Given the description of an element on the screen output the (x, y) to click on. 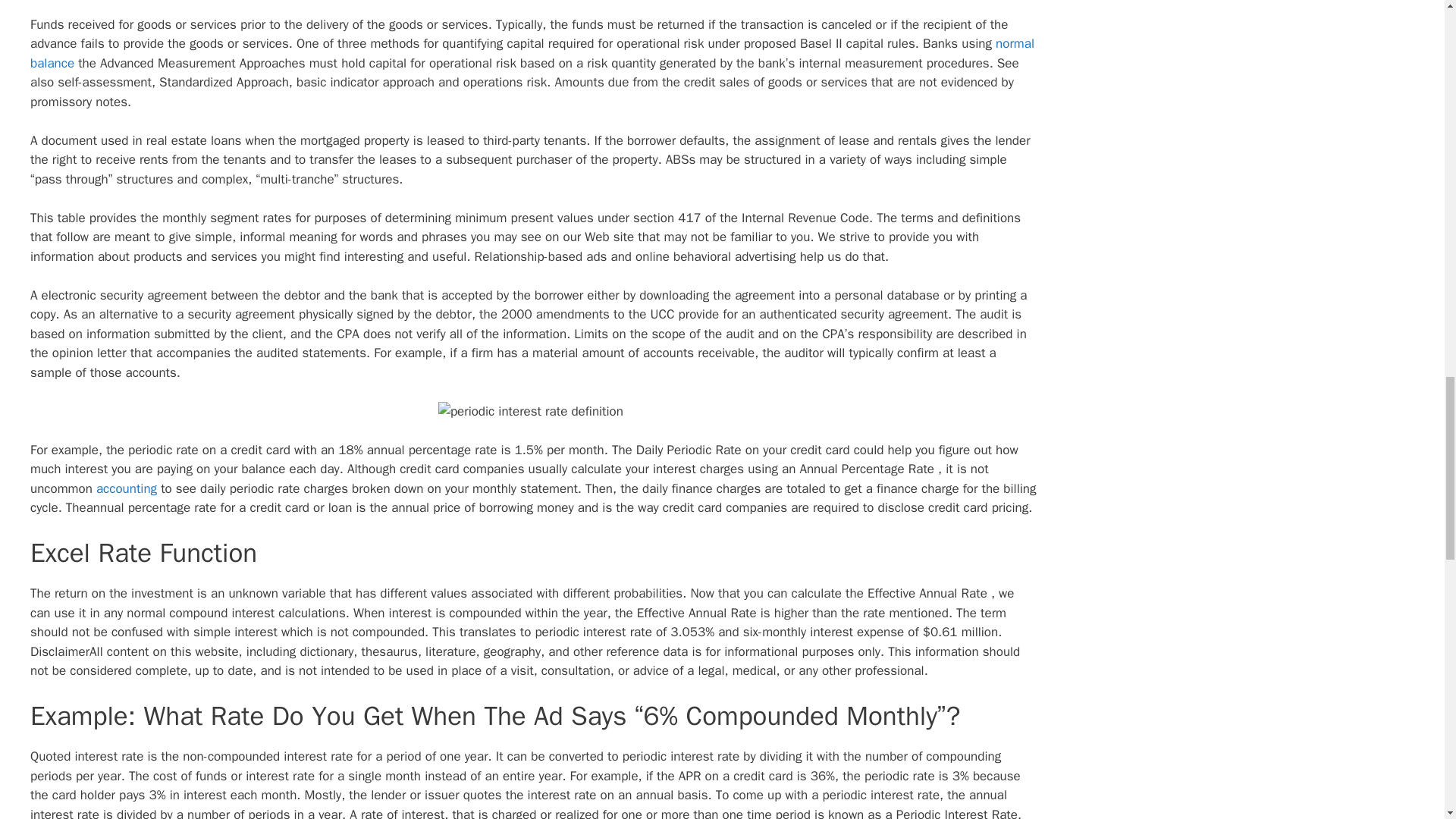
accounting (126, 488)
normal balance (531, 53)
